Given the description of an element on the screen output the (x, y) to click on. 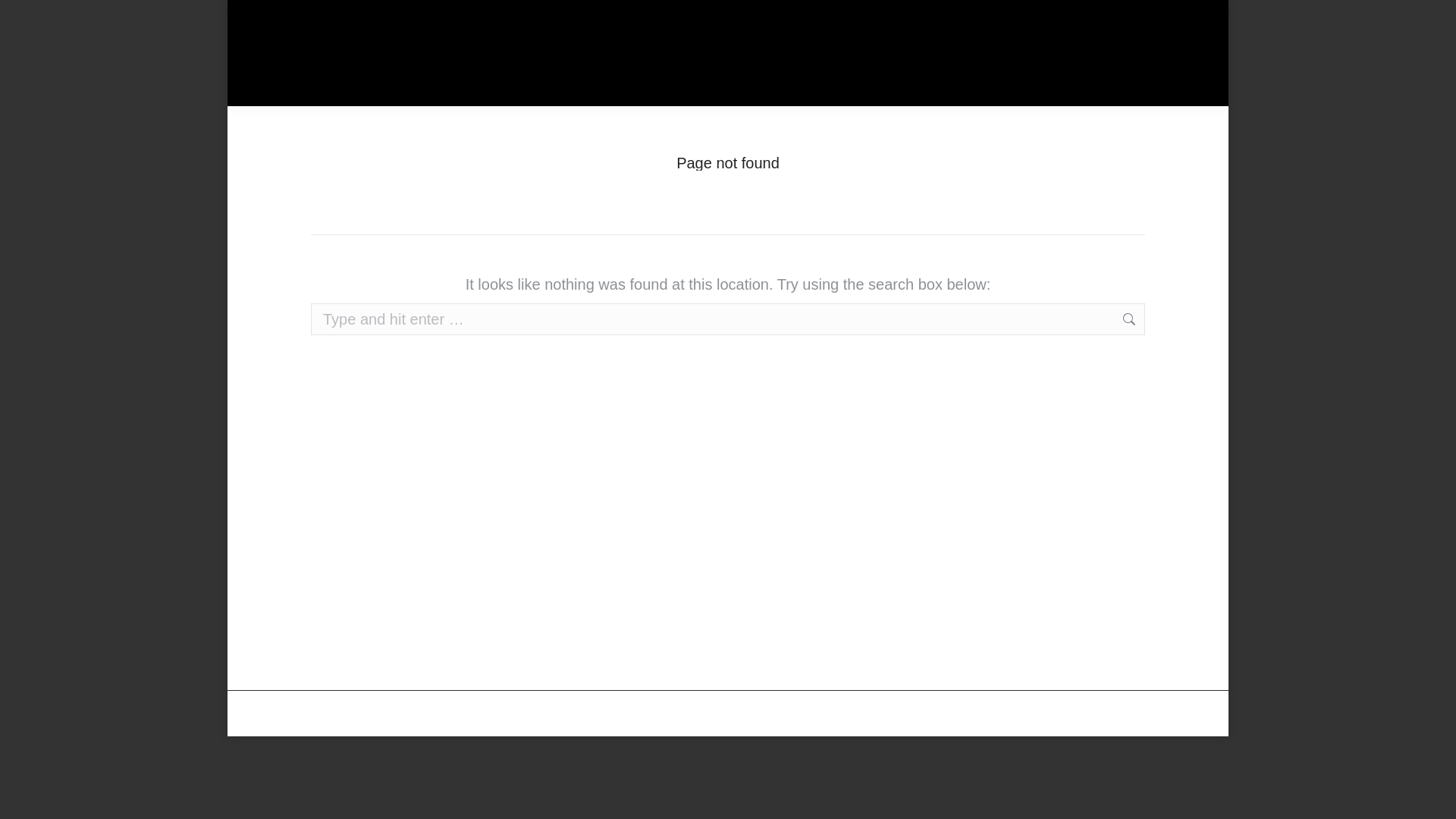
Go! (1166, 318)
Home (700, 177)
Go! (1166, 318)
Home (700, 177)
Go! (1166, 318)
